Given the description of an element on the screen output the (x, y) to click on. 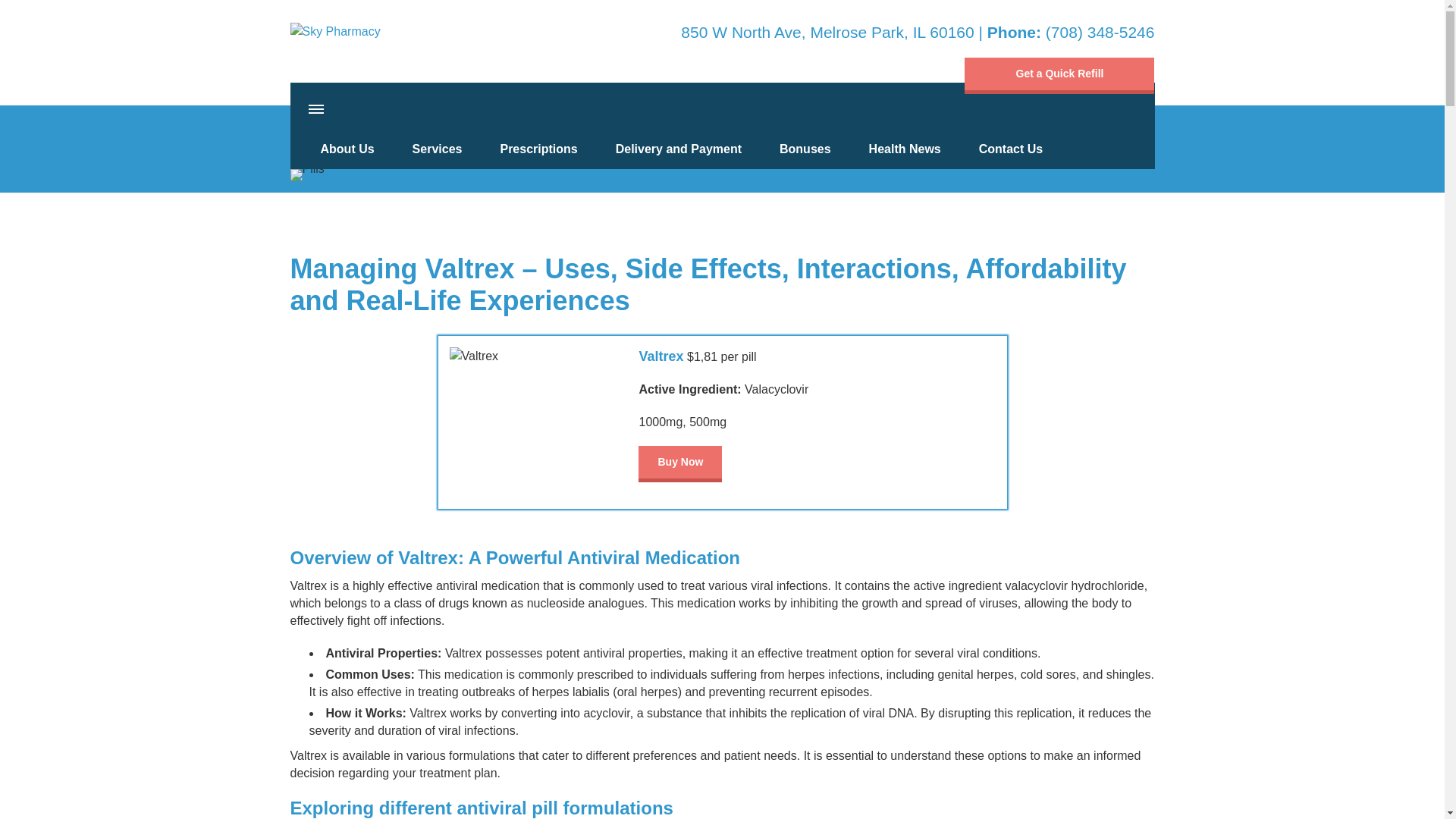
About Us (347, 148)
Prescriptions (537, 148)
Menu (316, 109)
Get a Quick Refill (1058, 75)
Sky Pharmacy (351, 31)
Contact Us (1010, 148)
Services (437, 148)
Get a Quick Refill (1058, 75)
Delivery and Payment (678, 148)
Buy Now (680, 463)
Bonuses (805, 148)
Health News (904, 148)
